Given the description of an element on the screen output the (x, y) to click on. 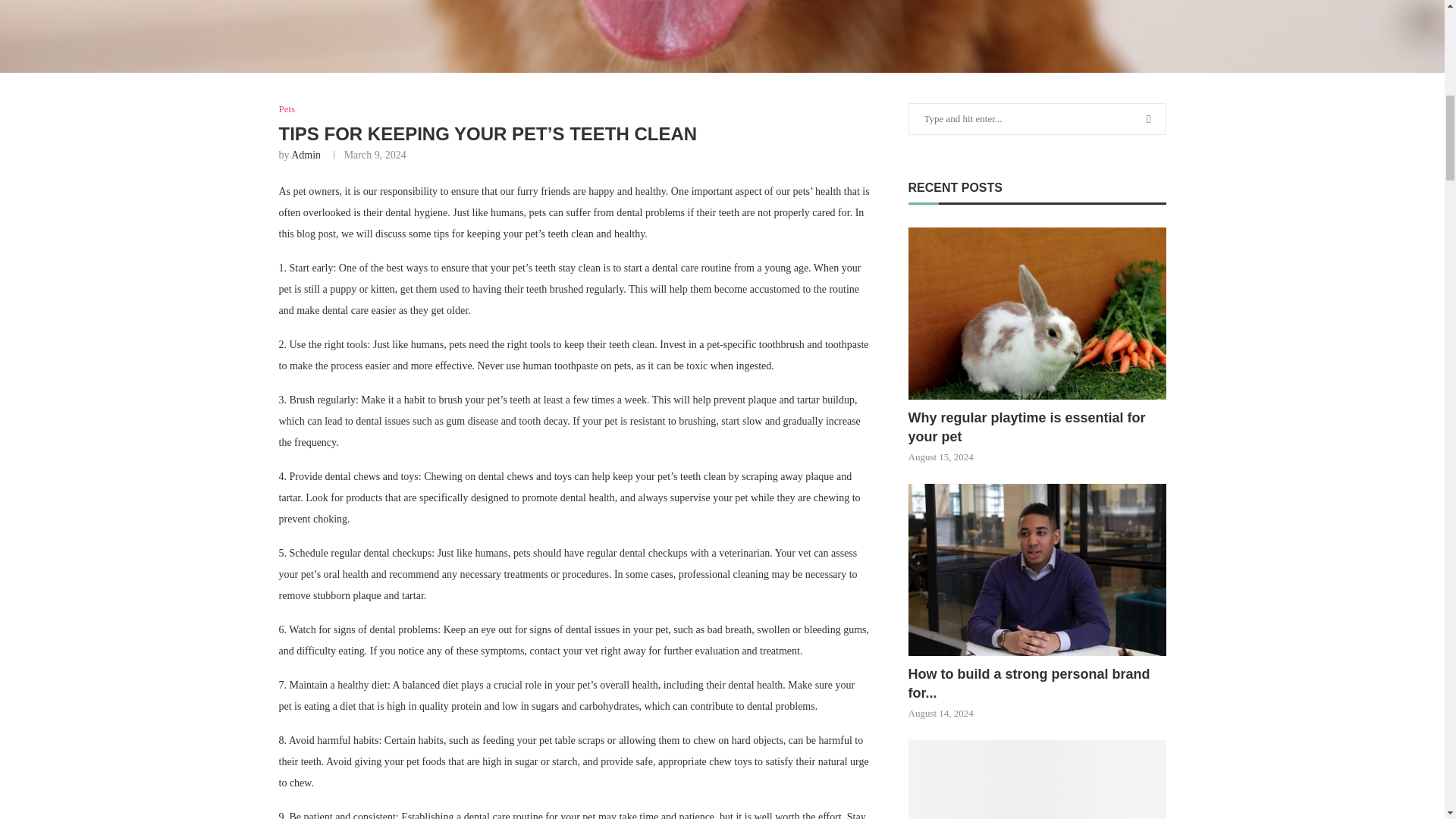
How to build a strong personal brand for your career (1037, 683)
Why regular playtime is essential for your pet (1037, 313)
Pets (287, 109)
How to build a strong personal brand for your career (1037, 570)
Admin (305, 154)
Why regular playtime is essential for your pet (1037, 427)
